Given the description of an element on the screen output the (x, y) to click on. 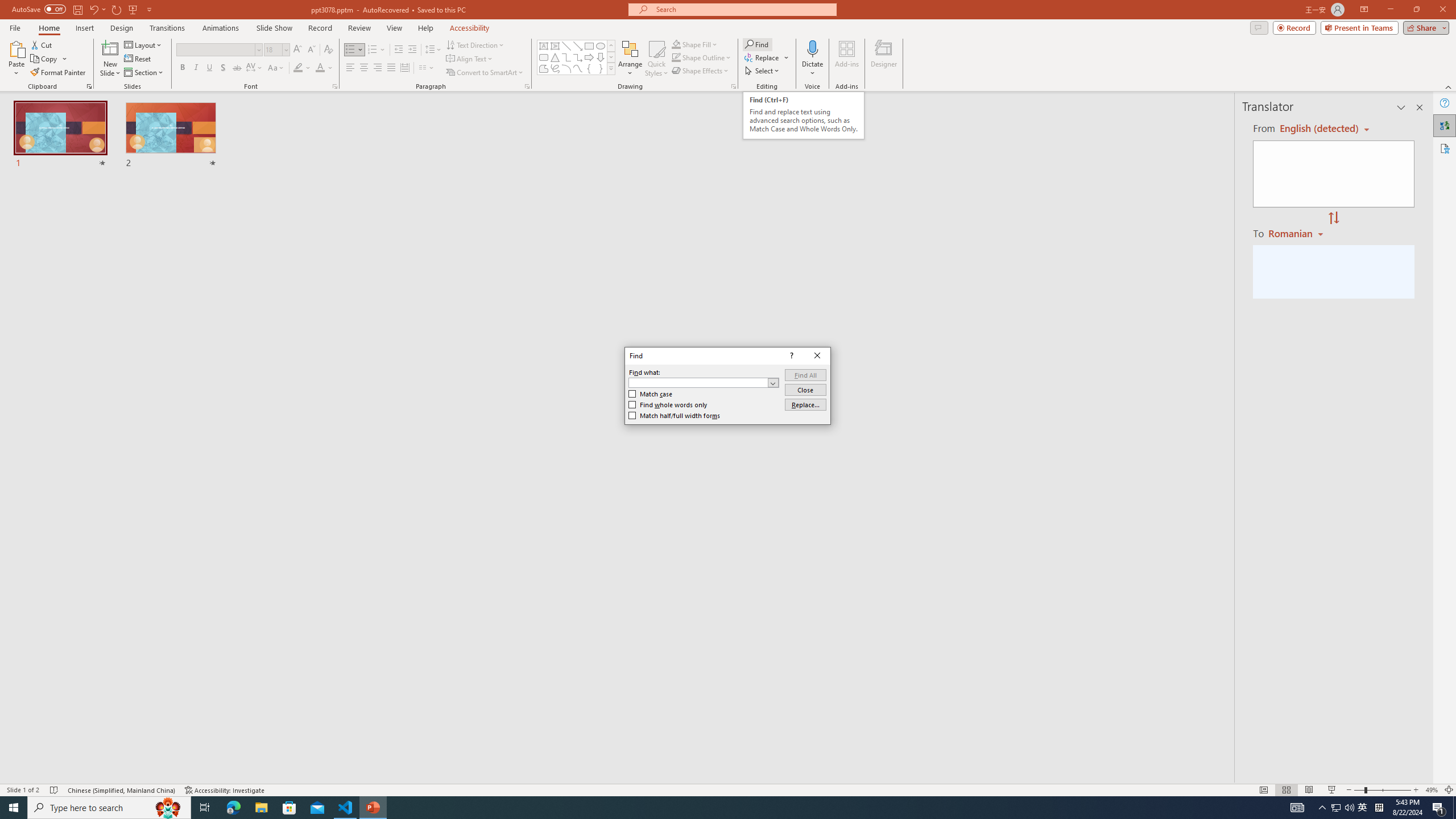
Match half/full width forms (674, 415)
